Given the description of an element on the screen output the (x, y) to click on. 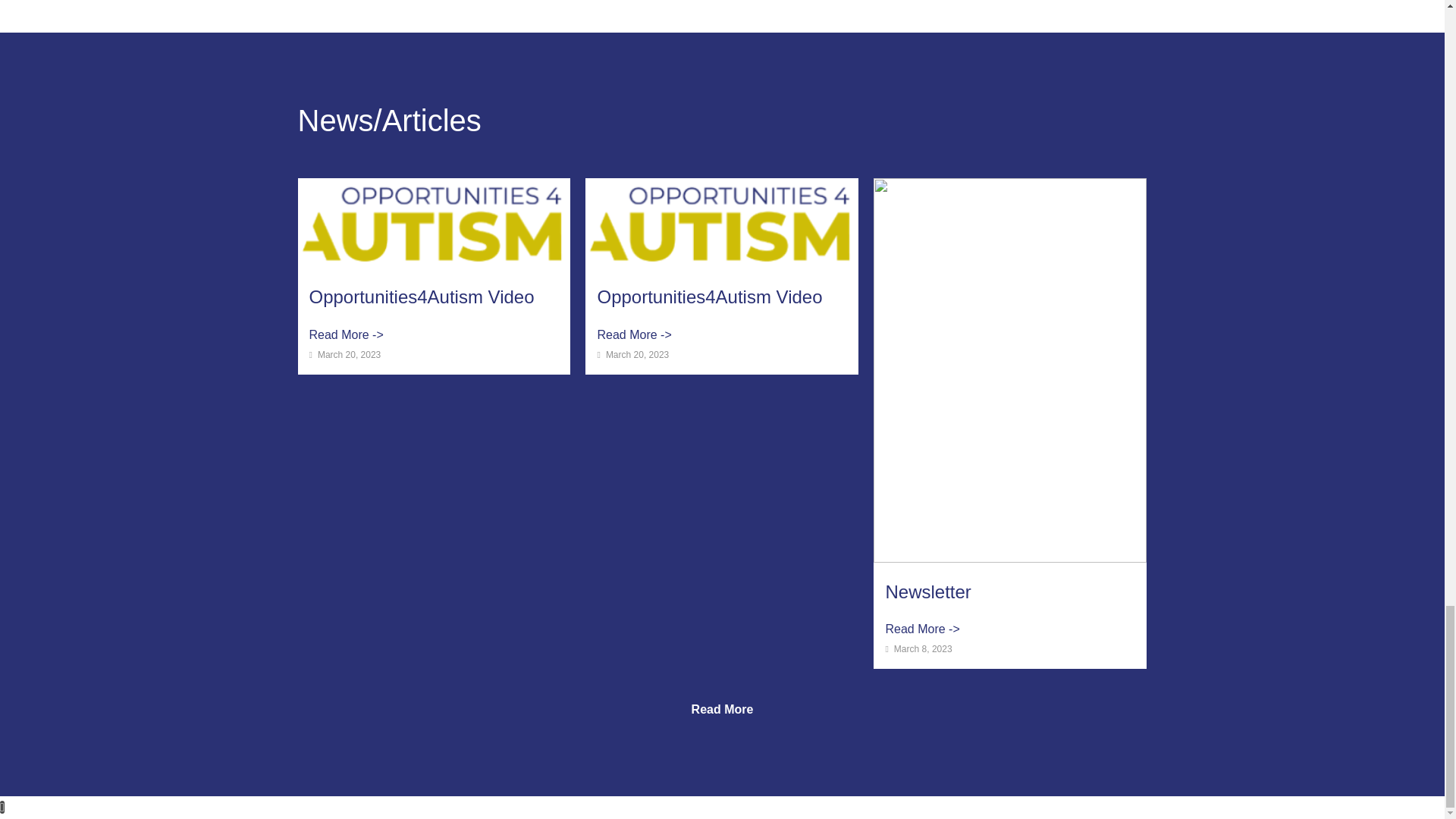
Opportunities4Autism Video (421, 296)
Opportunities4Autism Video (709, 296)
Opportunities4Autism Video (421, 296)
Newsletter (928, 591)
Opportunities4Autism Video (709, 296)
Read More (722, 709)
Newsletter (928, 591)
